Given the description of an element on the screen output the (x, y) to click on. 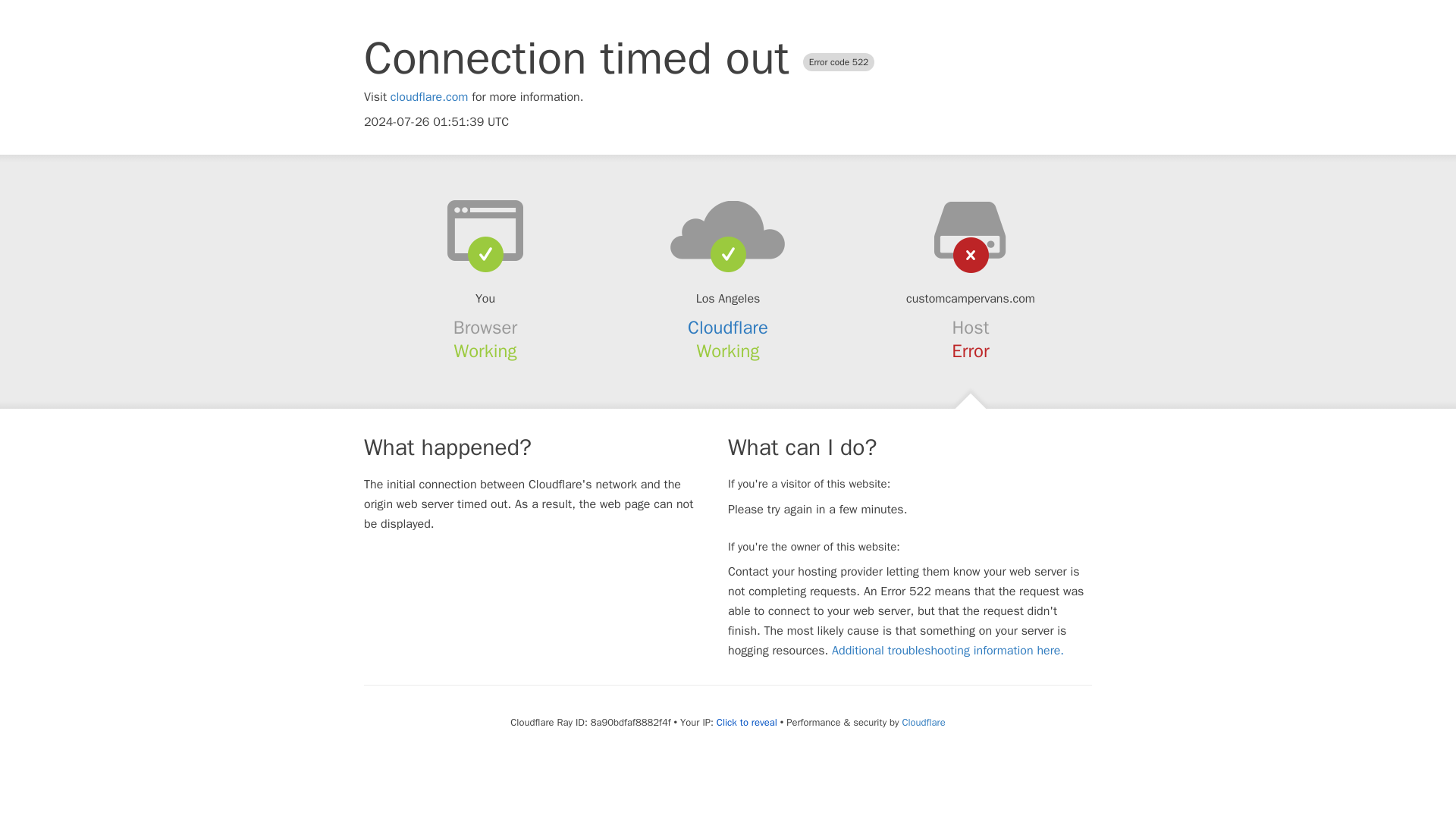
Additional troubleshooting information here. (947, 650)
cloudflare.com (429, 96)
Click to reveal (746, 722)
Cloudflare (922, 721)
Cloudflare (727, 327)
